Given the description of an element on the screen output the (x, y) to click on. 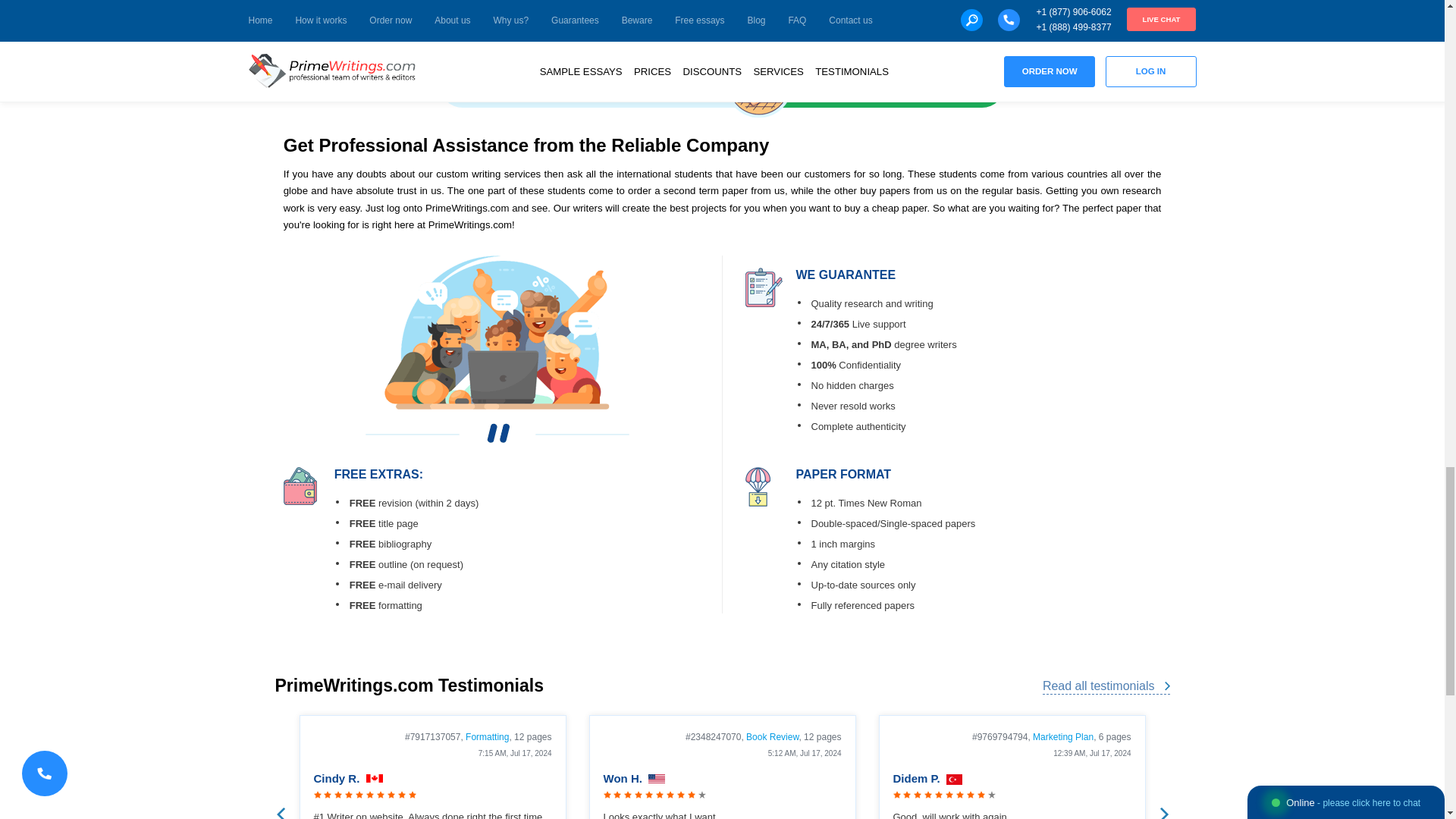
Canada (374, 778)
USA (656, 778)
Turkey (954, 778)
